Given the description of an element on the screen output the (x, y) to click on. 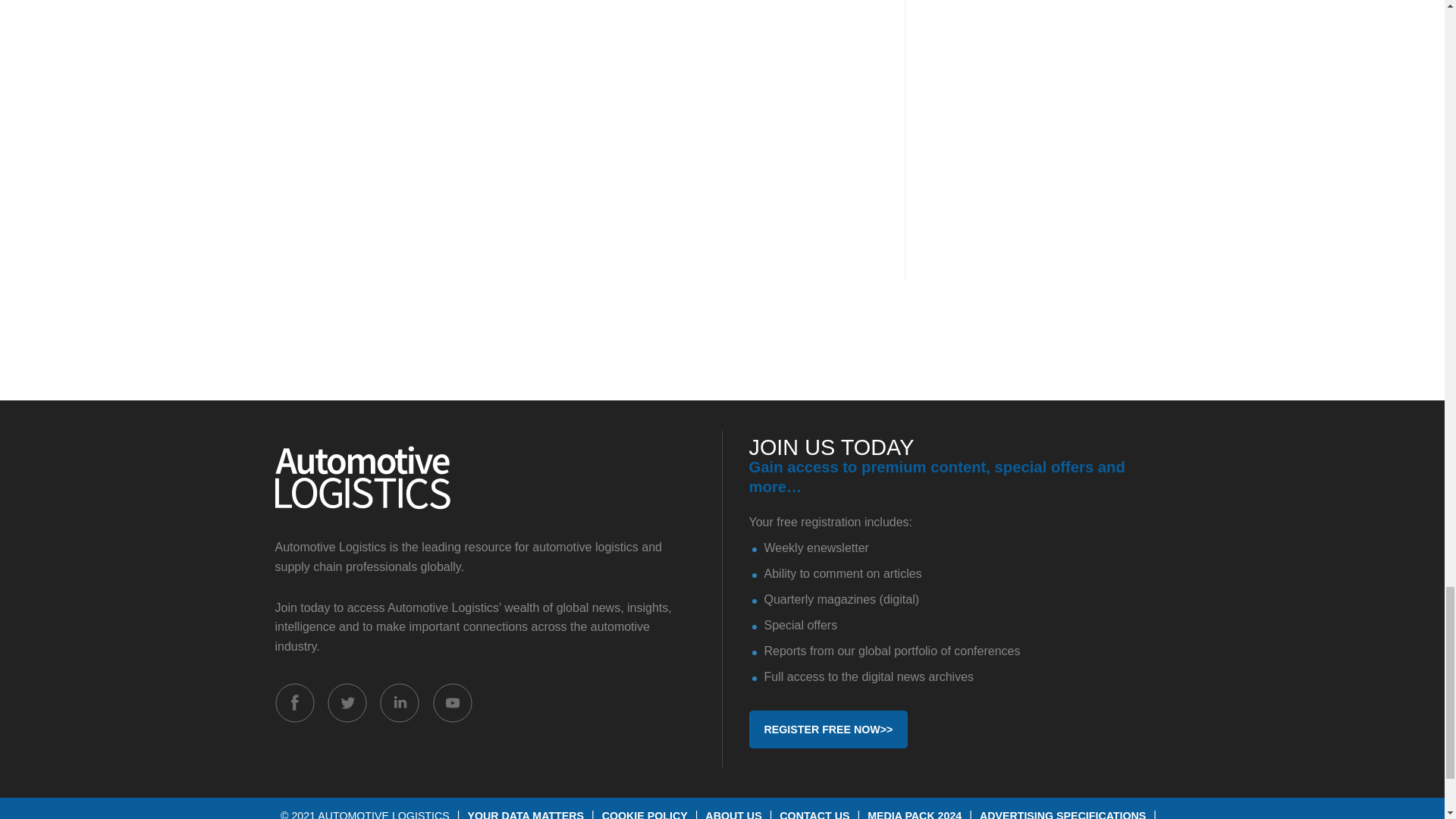
Connect with us on Facebook (294, 701)
Connect with us on Twitter (346, 701)
Connect with us on Linked In (399, 701)
Connect with us on Youtube (451, 701)
